Given the description of an element on the screen output the (x, y) to click on. 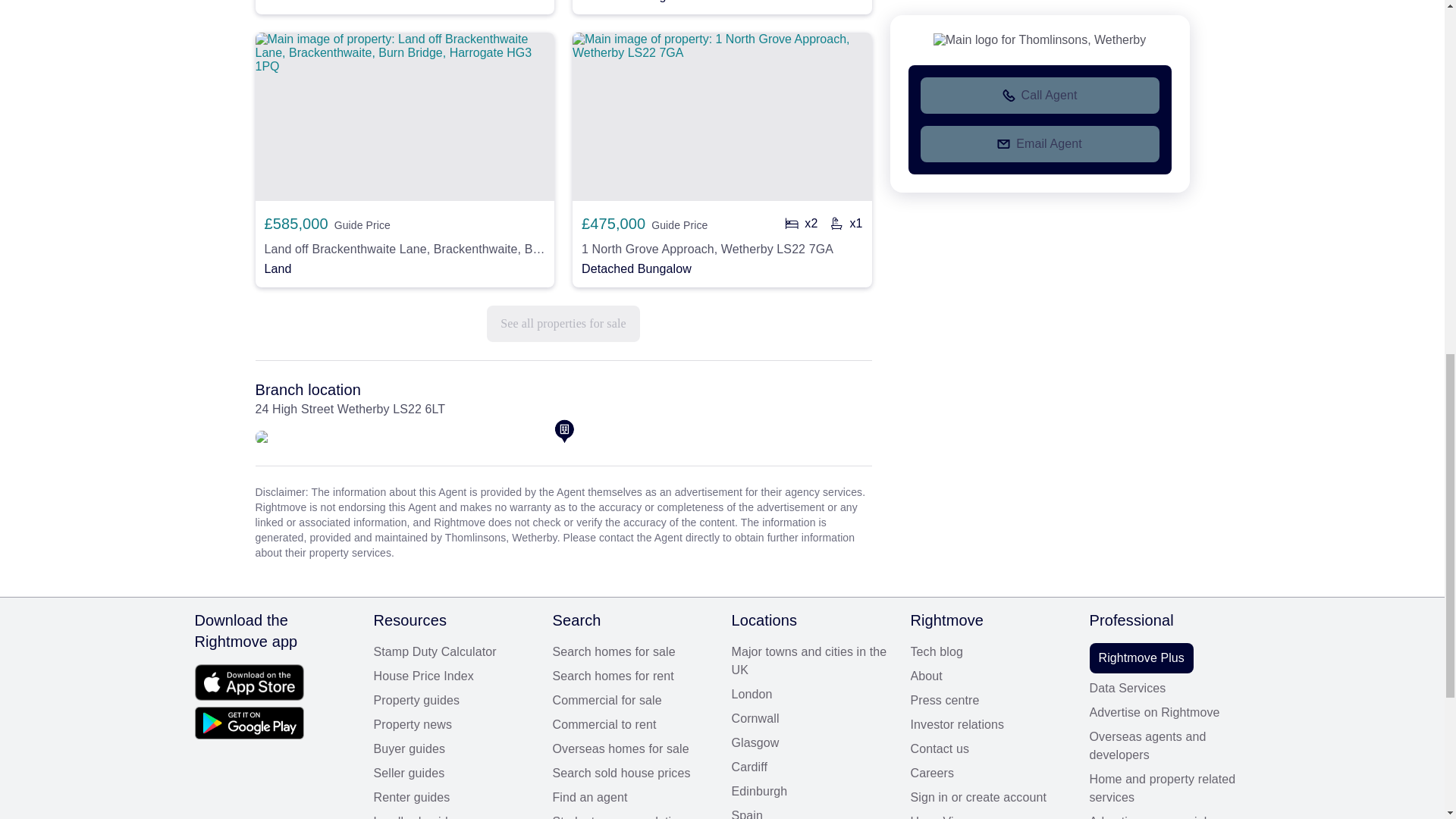
Property guides (453, 700)
Stamp duty calculator (453, 651)
Property news (453, 724)
Seller guides (453, 773)
Search homes for rent (632, 676)
Landlord guides (453, 816)
House price index (453, 676)
Overseas homes for sale (632, 749)
Search sold house prices (632, 773)
Search homes for sale (632, 651)
Buyer guides (453, 749)
Commercial to rent (632, 724)
Commercial for sale (632, 700)
Renter guides (453, 797)
